Given the description of an element on the screen output the (x, y) to click on. 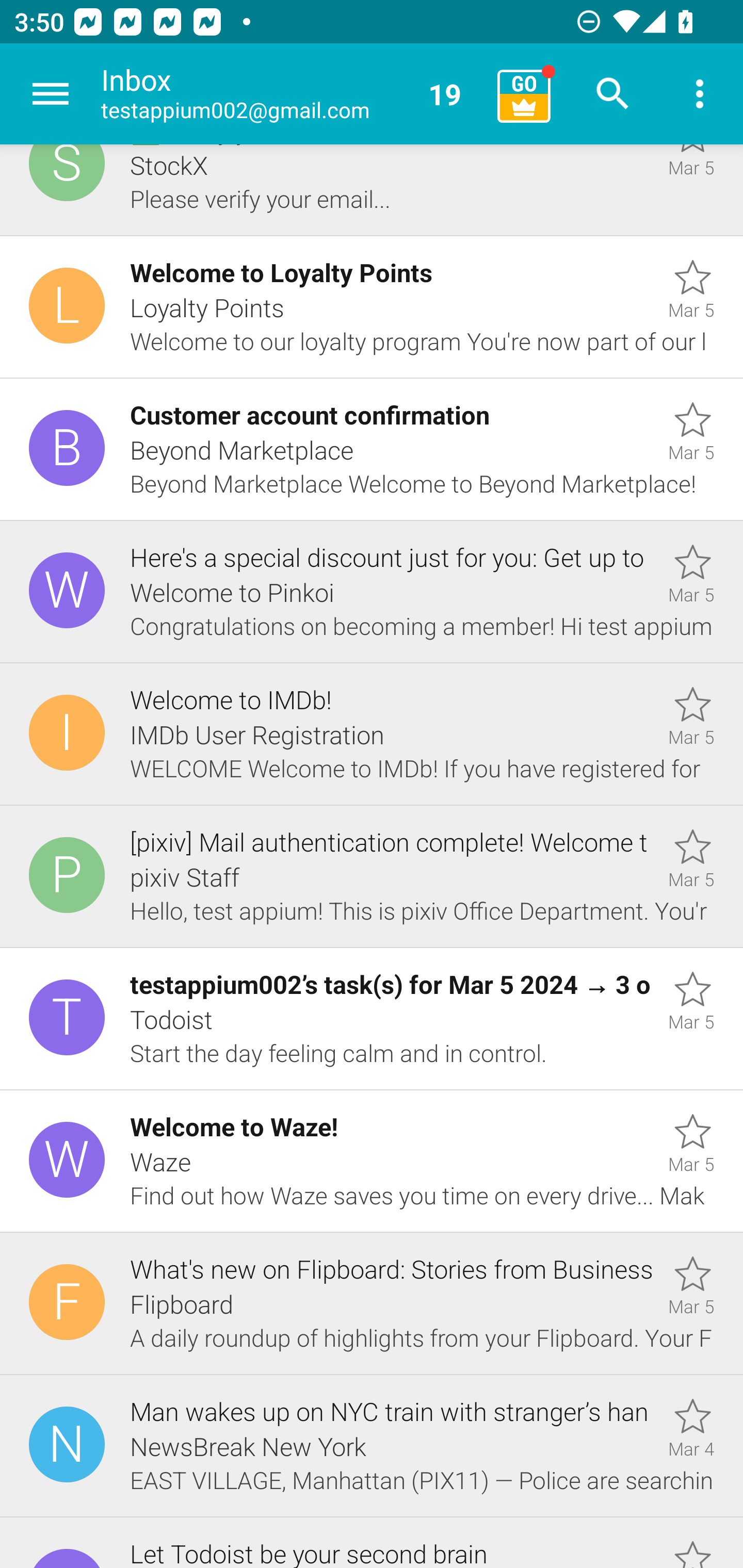
Navigate up (50, 93)
Inbox testappium002@gmail.com 19 (291, 93)
Search (612, 93)
More options (699, 93)
